Given the description of an element on the screen output the (x, y) to click on. 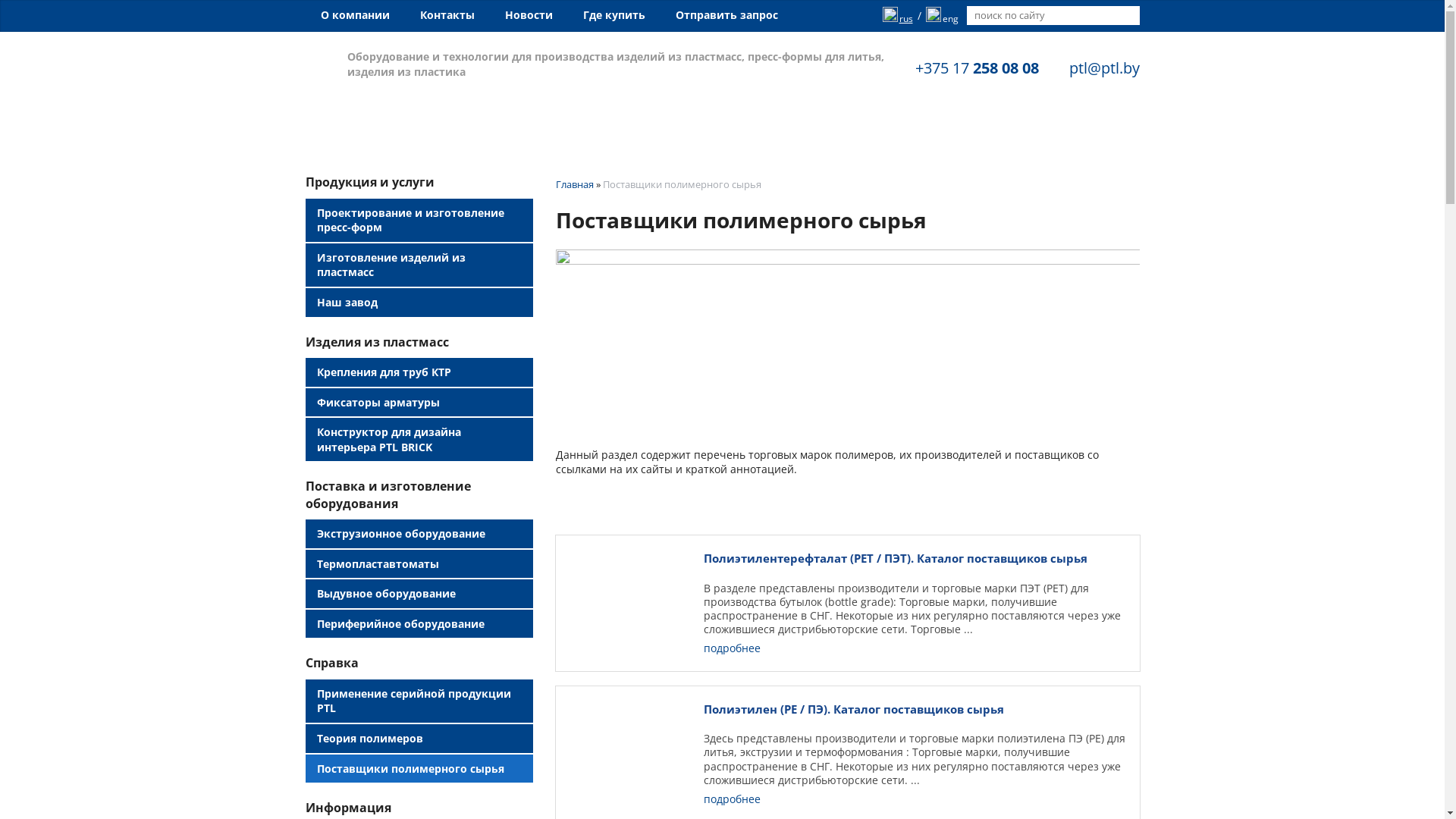
+375 17 258 08 08 Element type: text (976, 67)
ptl@ptl.by Element type: text (1104, 67)
eng Element type: text (941, 15)
rus Element type: text (897, 15)
